Given the description of an element on the screen output the (x, y) to click on. 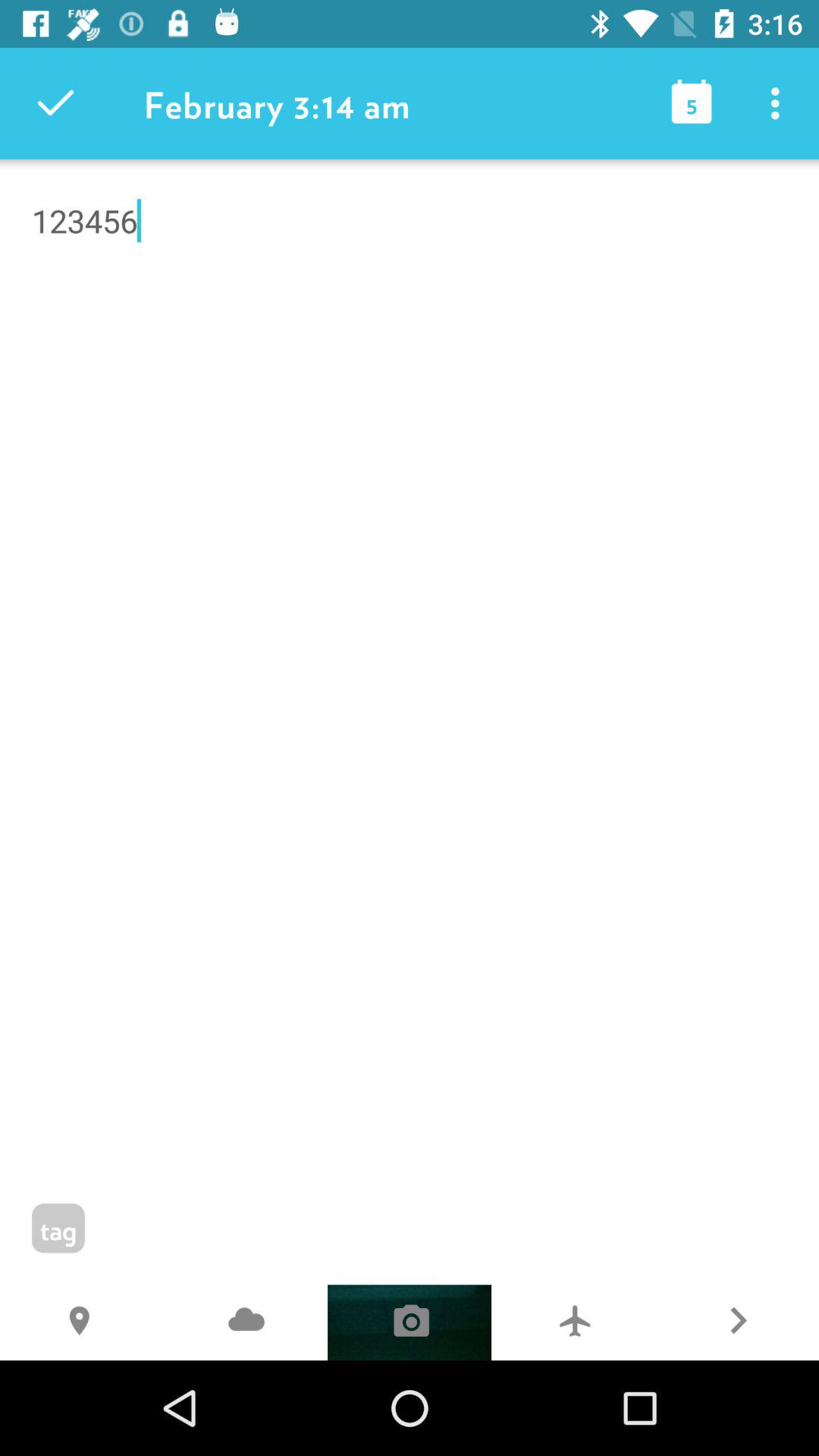
choose icon at the top left corner (55, 103)
